Given the description of an element on the screen output the (x, y) to click on. 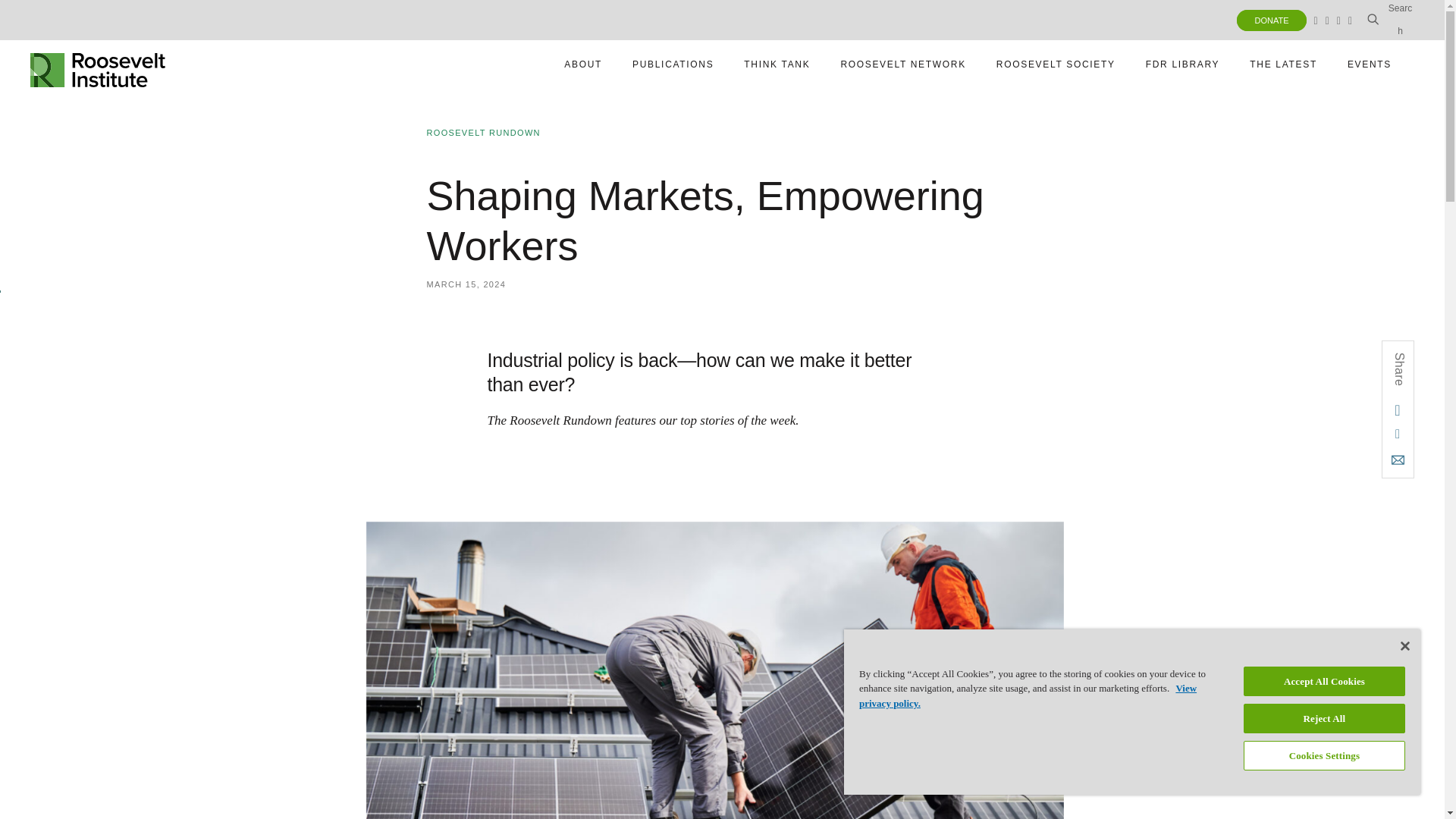
DONATE (1271, 20)
ROOSEVELT SOCIETY (1055, 64)
THE LATEST (1282, 64)
THINK TANK (776, 64)
EVENTS (1369, 64)
ROOSEVELT NETWORK (902, 64)
PUBLICATIONS (1390, 20)
ABOUT (672, 64)
FDR LIBRARY (97, 64)
